Given the description of an element on the screen output the (x, y) to click on. 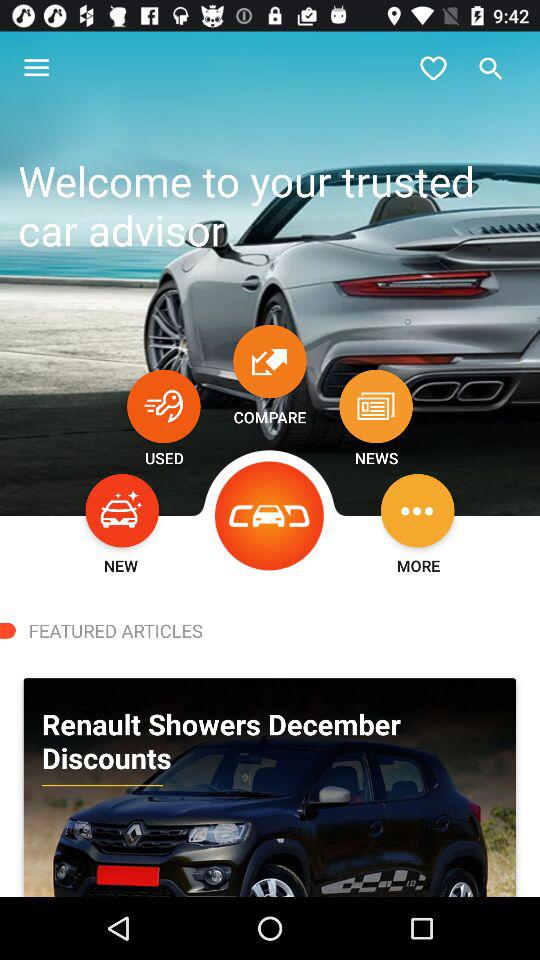
go to new cars (122, 510)
